Given the description of an element on the screen output the (x, y) to click on. 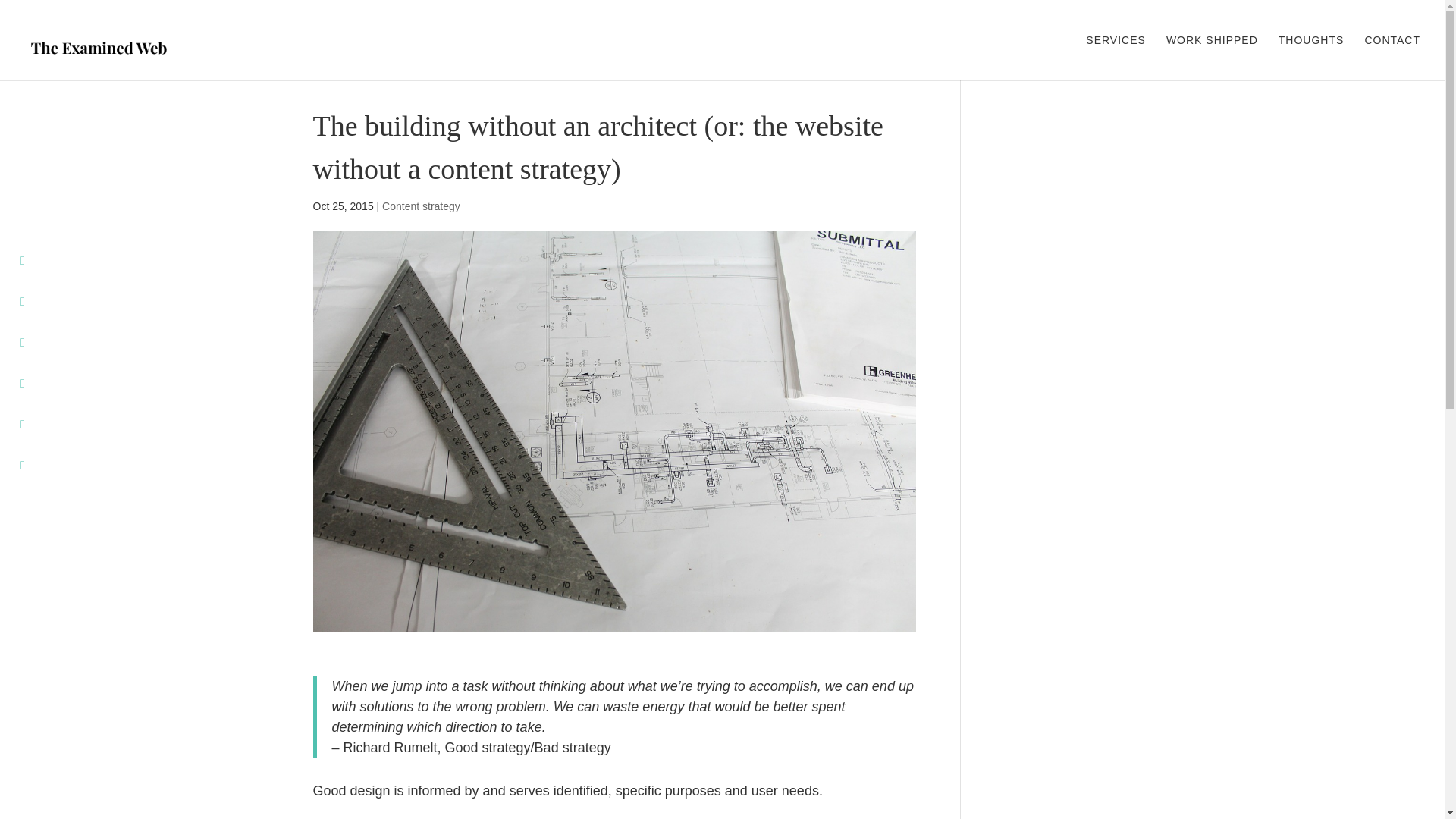
THOUGHTS (1310, 57)
CONTACT (1392, 57)
SERVICES (1115, 57)
Content strategy (420, 205)
WORK SHIPPED (1211, 57)
